Given the description of an element on the screen output the (x, y) to click on. 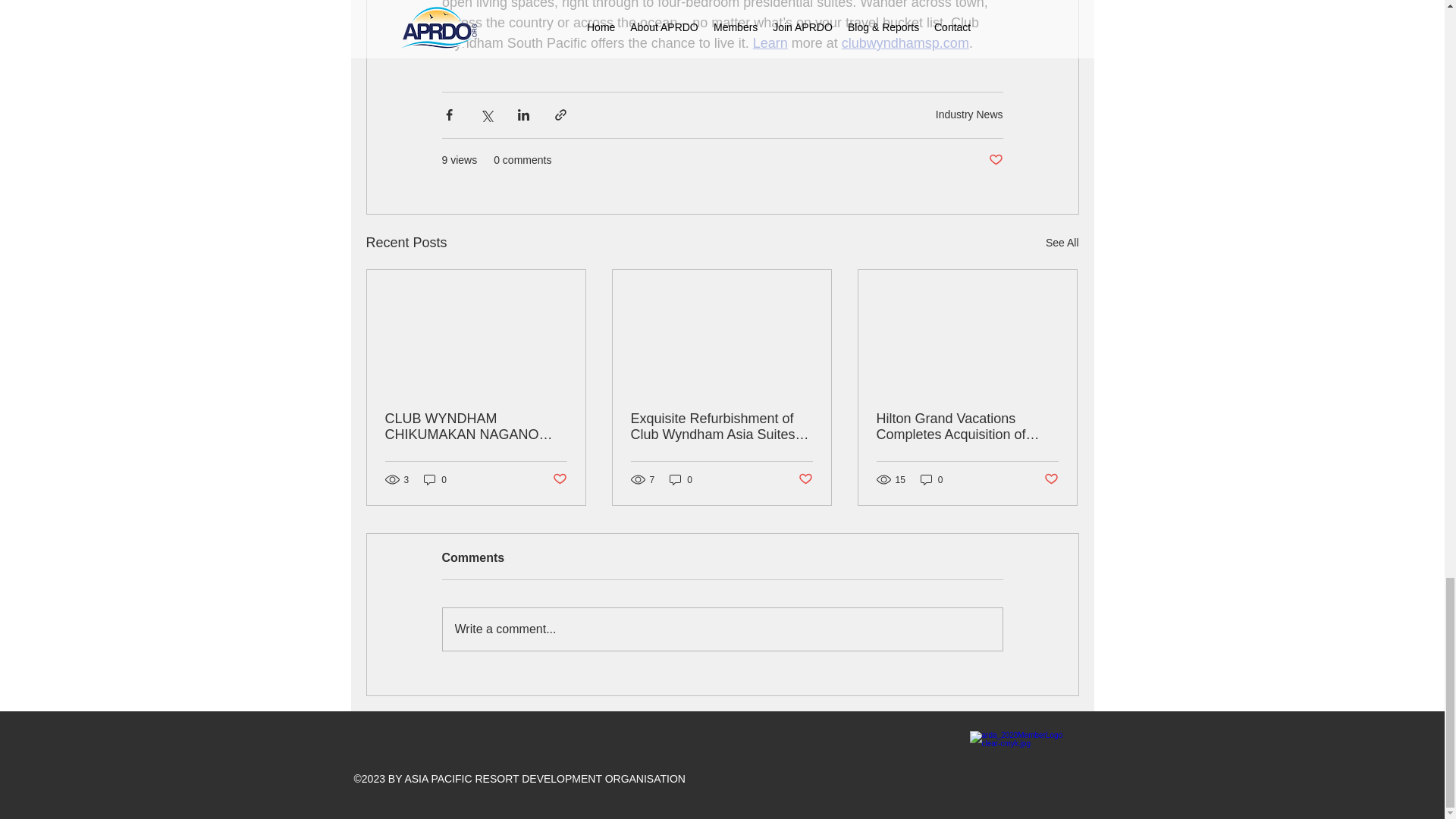
0 (435, 479)
Industry News (969, 114)
See All (1061, 242)
clubwyndhamsp.com (904, 43)
0 (931, 479)
Post not marked as liked (558, 479)
Post not marked as liked (804, 479)
Post not marked as liked (995, 160)
0 (681, 479)
Learn (769, 43)
